Given the description of an element on the screen output the (x, y) to click on. 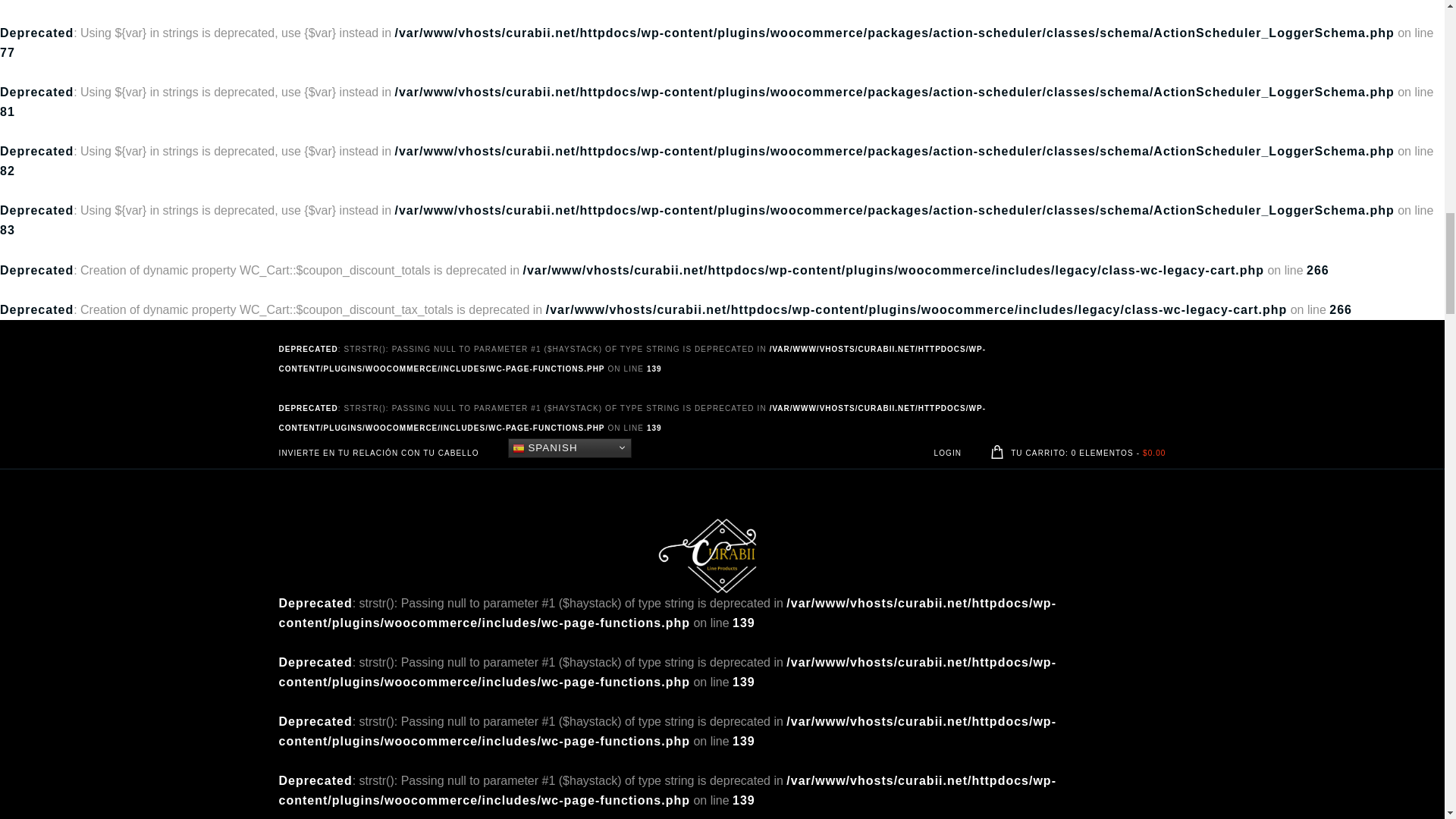
LOGIN (948, 452)
SPANISH (569, 447)
